Given the description of an element on the screen output the (x, y) to click on. 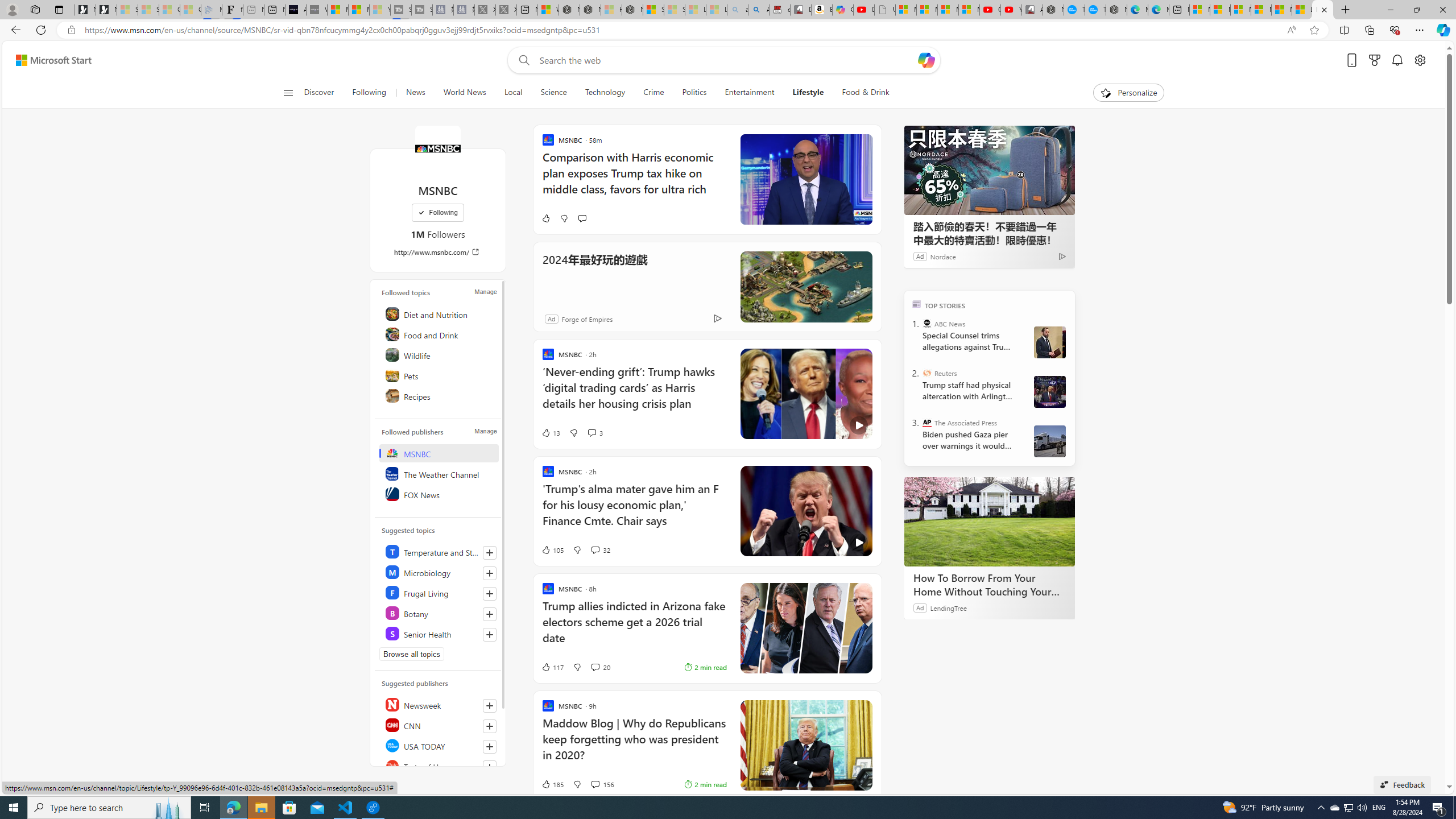
Class: hero-image (805, 511)
Local (512, 92)
Entertainment (749, 92)
117 Like (551, 667)
Forge of Empires (587, 318)
